Given the description of an element on the screen output the (x, y) to click on. 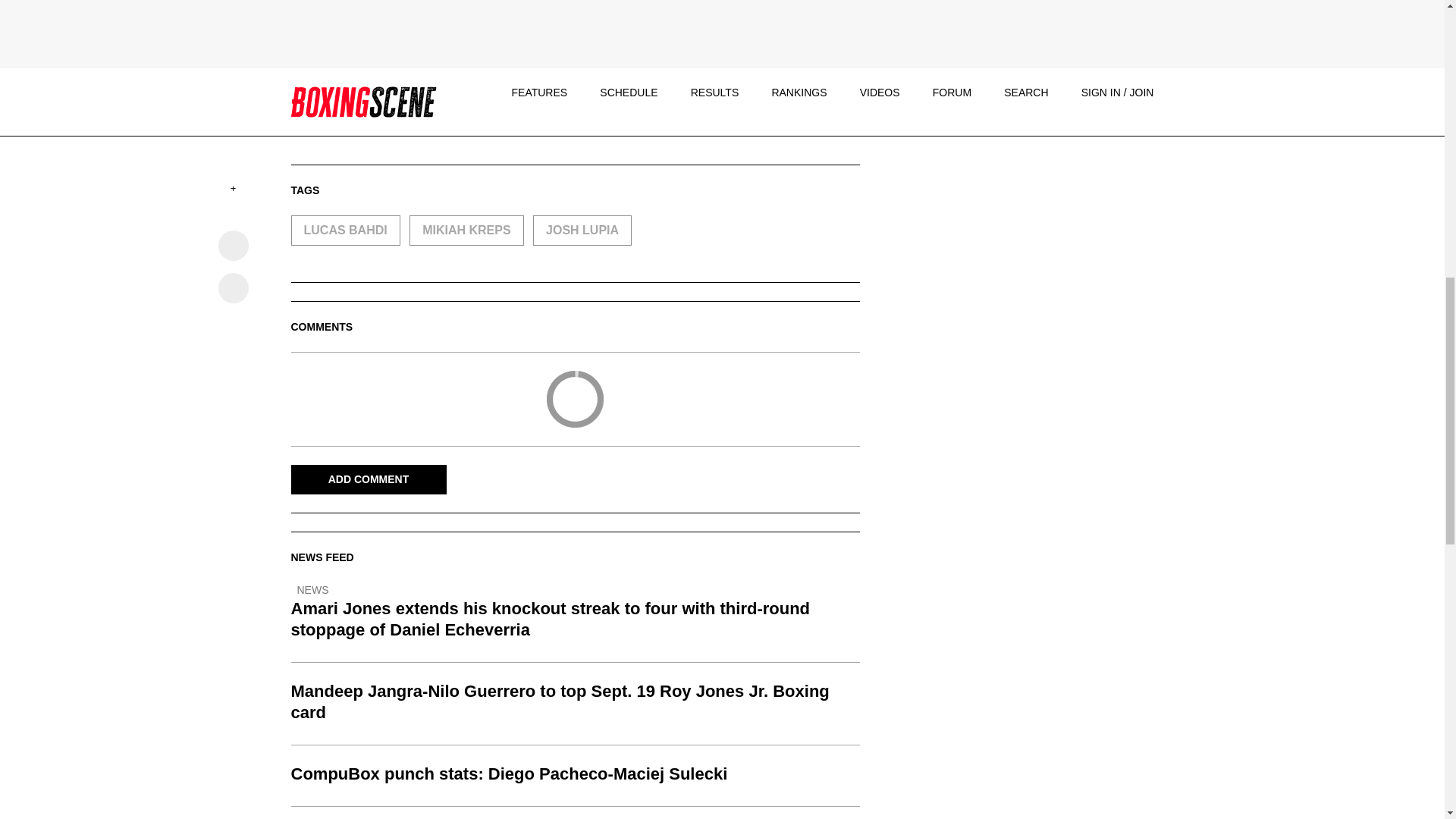
JOSH LUPIA (581, 230)
CompuBox punch stats: Diego Pacheco-Maciej Sulecki (575, 773)
NEWS FEED (322, 557)
MIKIAH KREPS (465, 230)
ADD COMMENT (368, 479)
LUCAS BAHDI (345, 230)
